Given the description of an element on the screen output the (x, y) to click on. 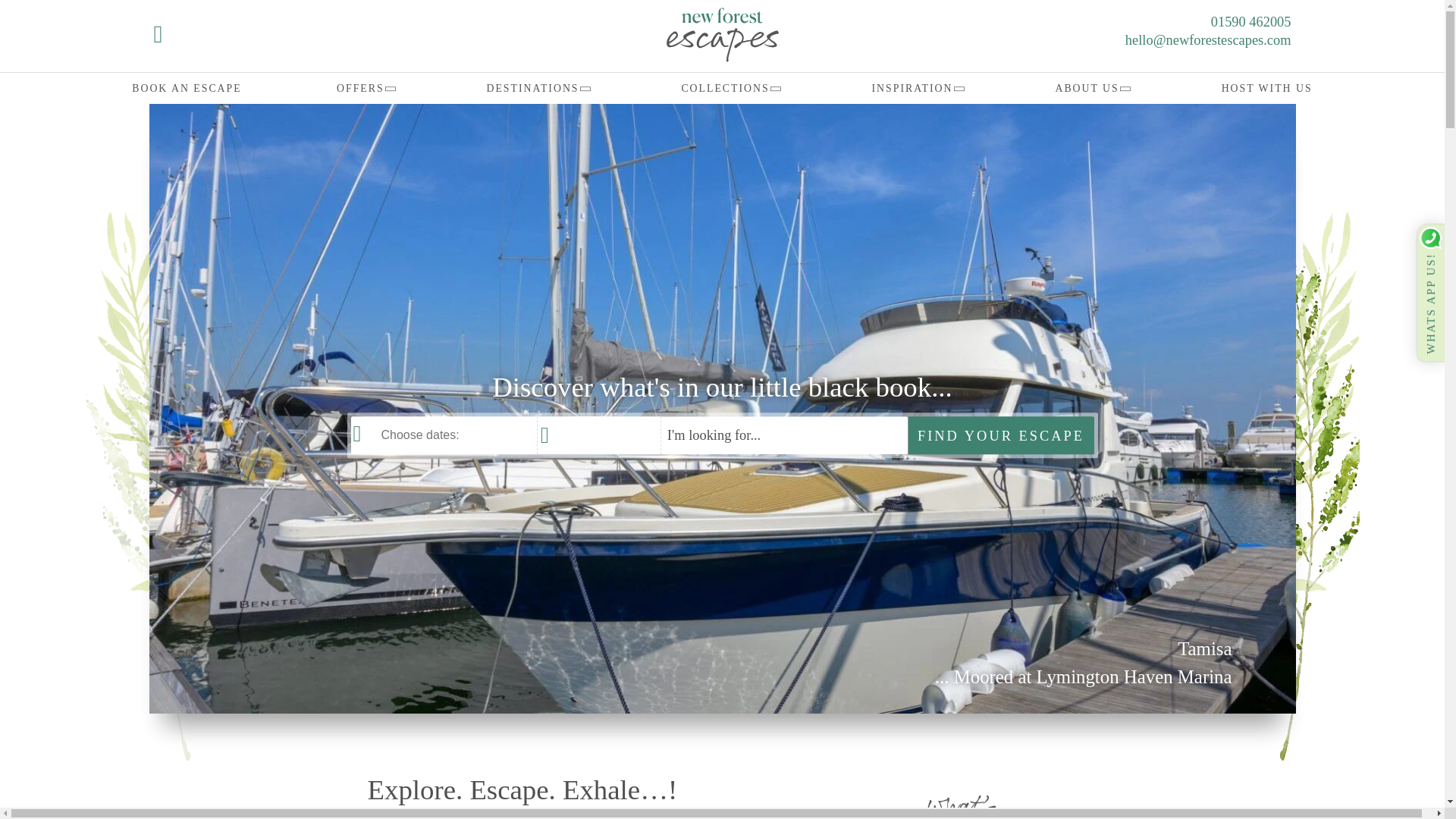
COLLECTIONS (730, 88)
BOOK AN ESCAPE (186, 88)
Find your Escape (1001, 435)
01590 462005 (1193, 22)
OFFERS (363, 88)
DESTINATIONS (536, 88)
New Forest Escapes (721, 34)
